Given the description of an element on the screen output the (x, y) to click on. 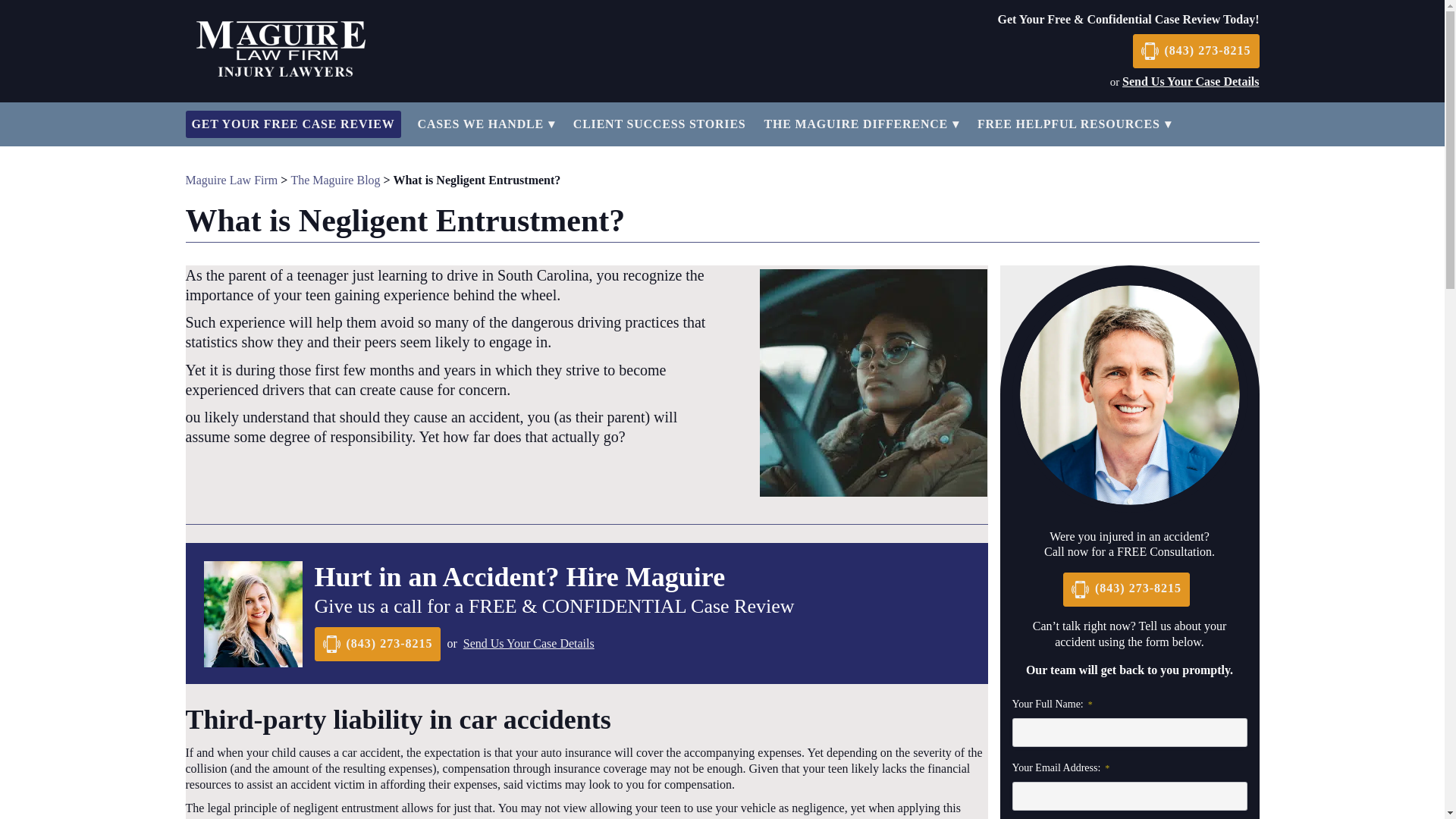
GET YOUR FREE CASE REVIEW (292, 124)
Maguire Law Firm (231, 179)
The Maguire Blog (334, 179)
Send Us Your Case Details (1190, 81)
cause an accident (466, 416)
THE MAGUIRE DIFFERENCE (856, 124)
Send Us Your Case Details (528, 643)
CLIENT SUCCESS STORIES (659, 124)
CASES WE HANDLE (480, 124)
FREE HELPFUL RESOURCES (1068, 124)
